Given the description of an element on the screen output the (x, y) to click on. 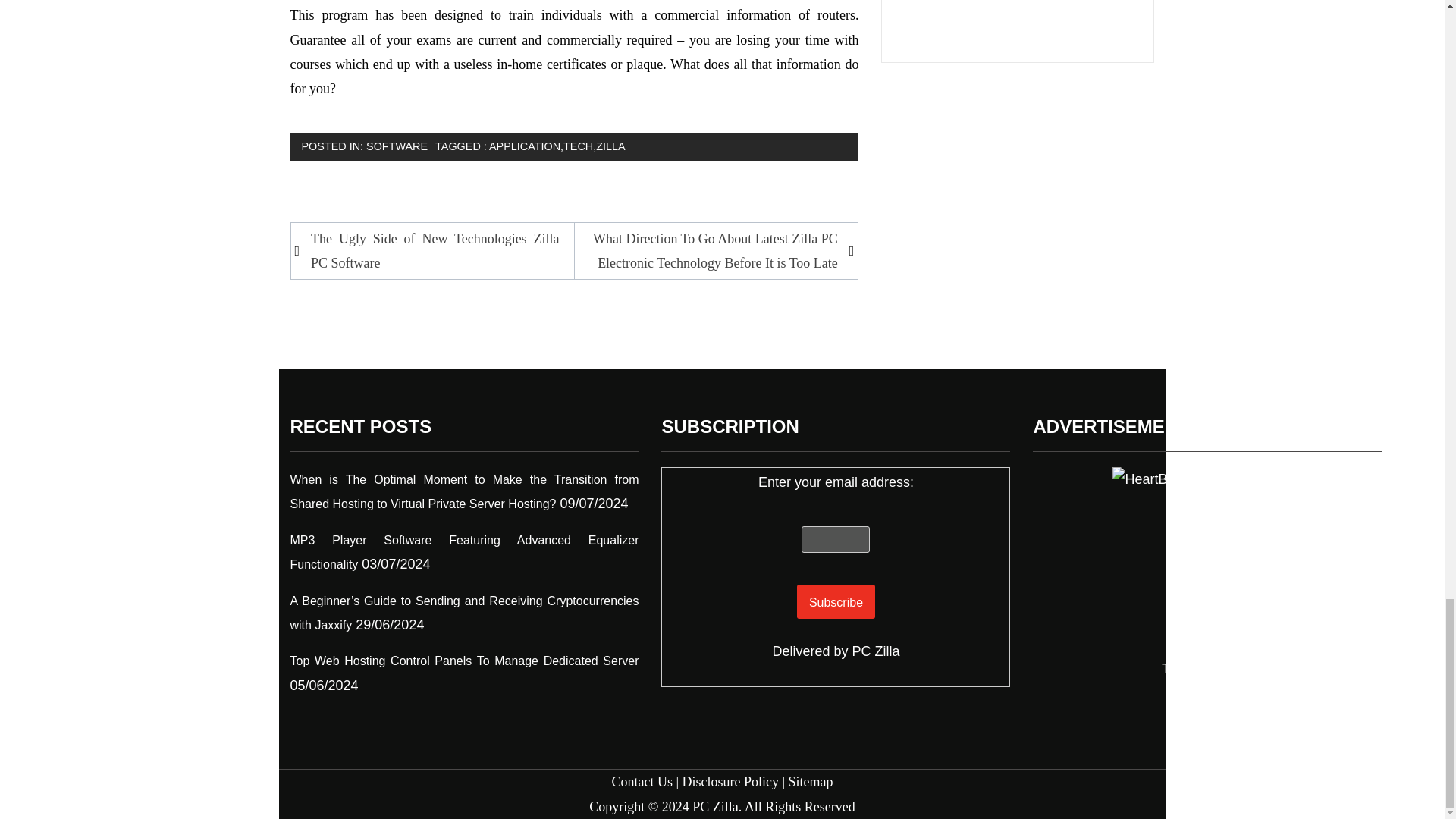
HeartBeats (1206, 561)
Subscribe (835, 601)
